Given the description of an element on the screen output the (x, y) to click on. 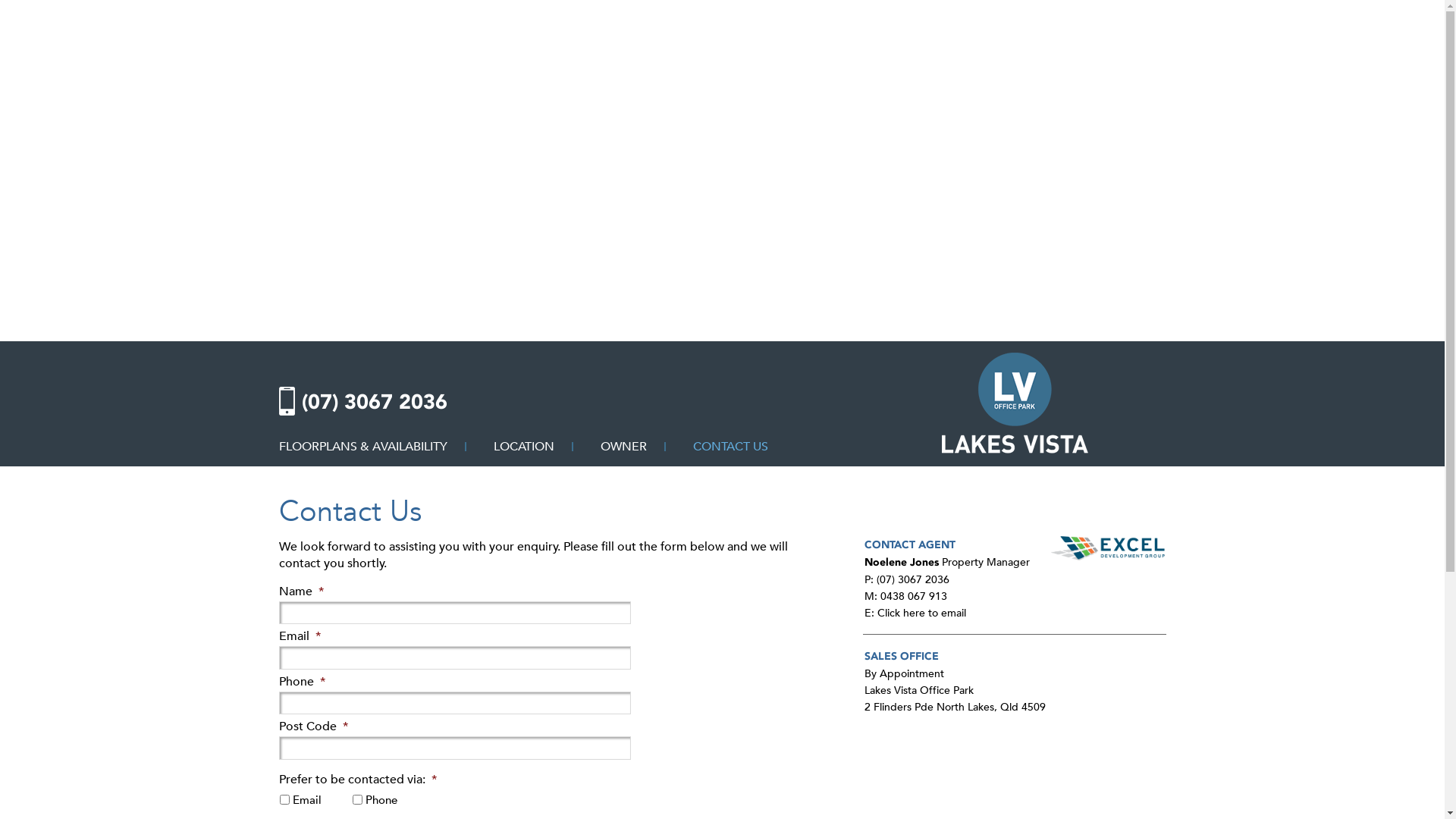
LOCATION Element type: text (522, 446)
Click here to email Element type: text (920, 612)
(07) 3067 2036 Element type: text (374, 401)
Lakes Vista Element type: hover (1014, 449)
CONTACT US Element type: text (730, 446)
FLOORPLANS & AVAILABILITY Element type: text (363, 446)
OWNER Element type: text (623, 446)
